Given the description of an element on the screen output the (x, y) to click on. 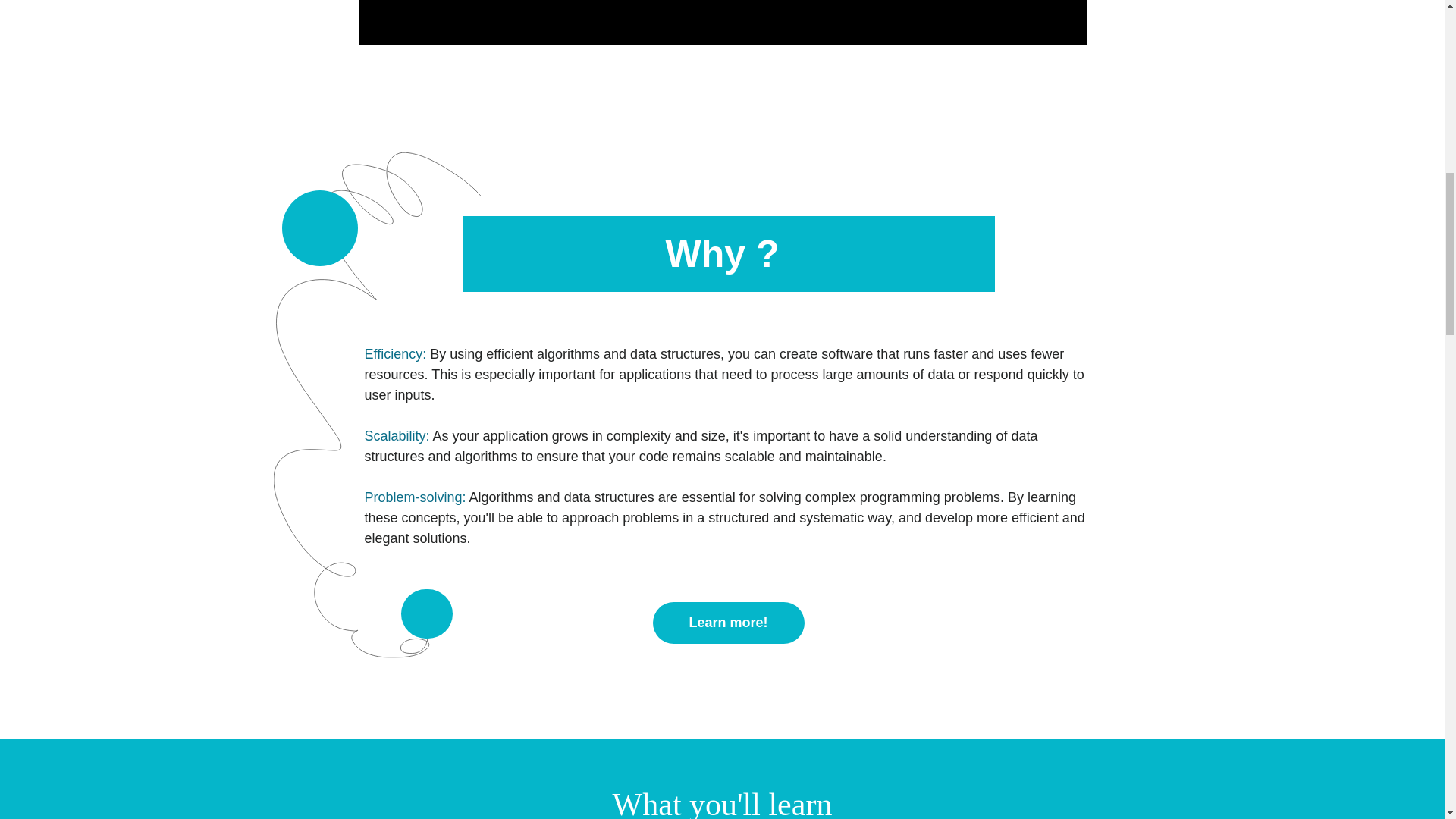
Learn more! (727, 622)
